Given the description of an element on the screen output the (x, y) to click on. 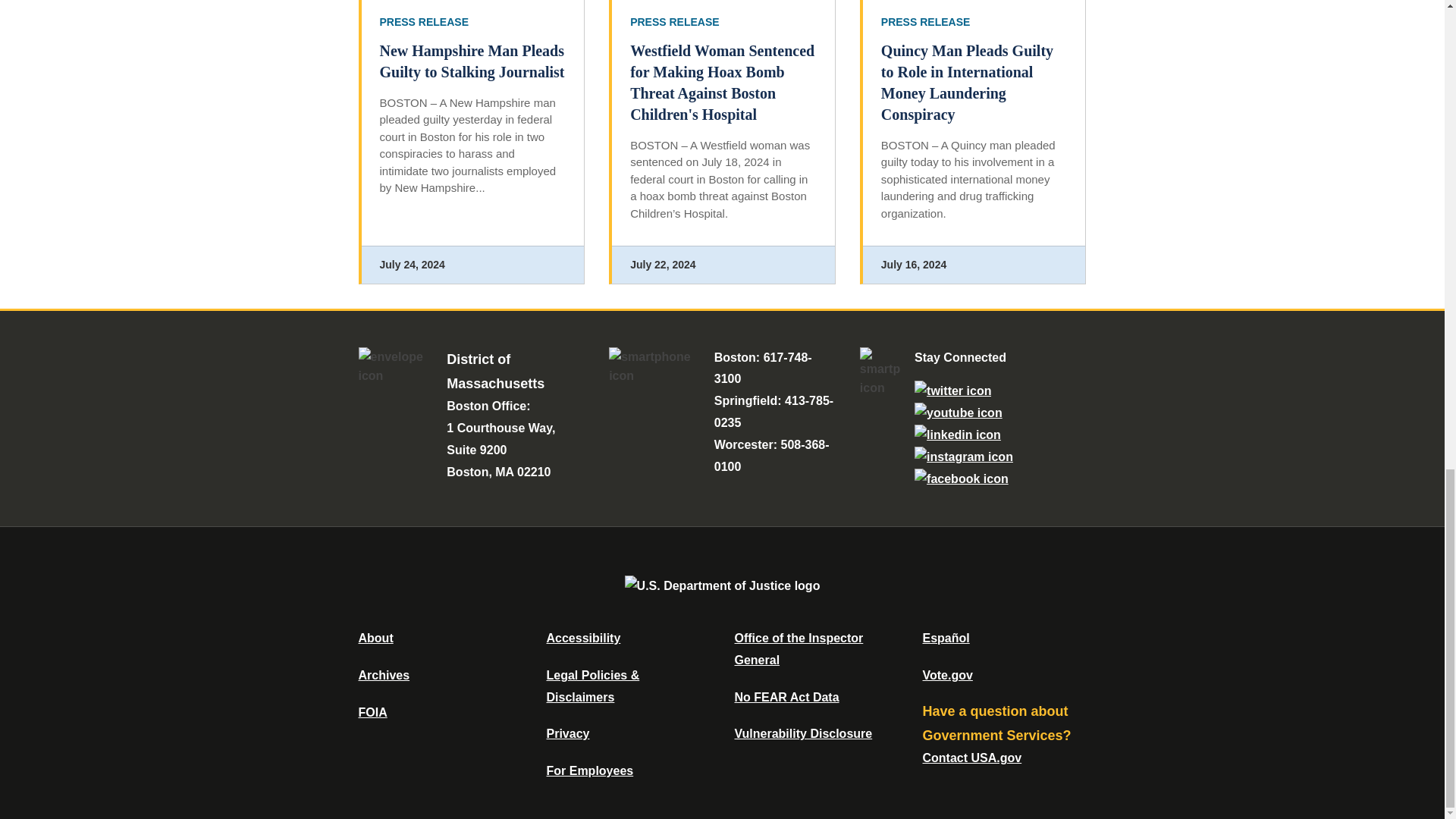
For Employees (589, 770)
Department of Justice Archive (383, 675)
About DOJ (375, 637)
Accessibility Statement (583, 637)
Data Posted Pursuant To The No Fear Act (785, 697)
Legal Policies and Disclaimers (592, 686)
Office of Information Policy (372, 712)
